Given the description of an element on the screen output the (x, y) to click on. 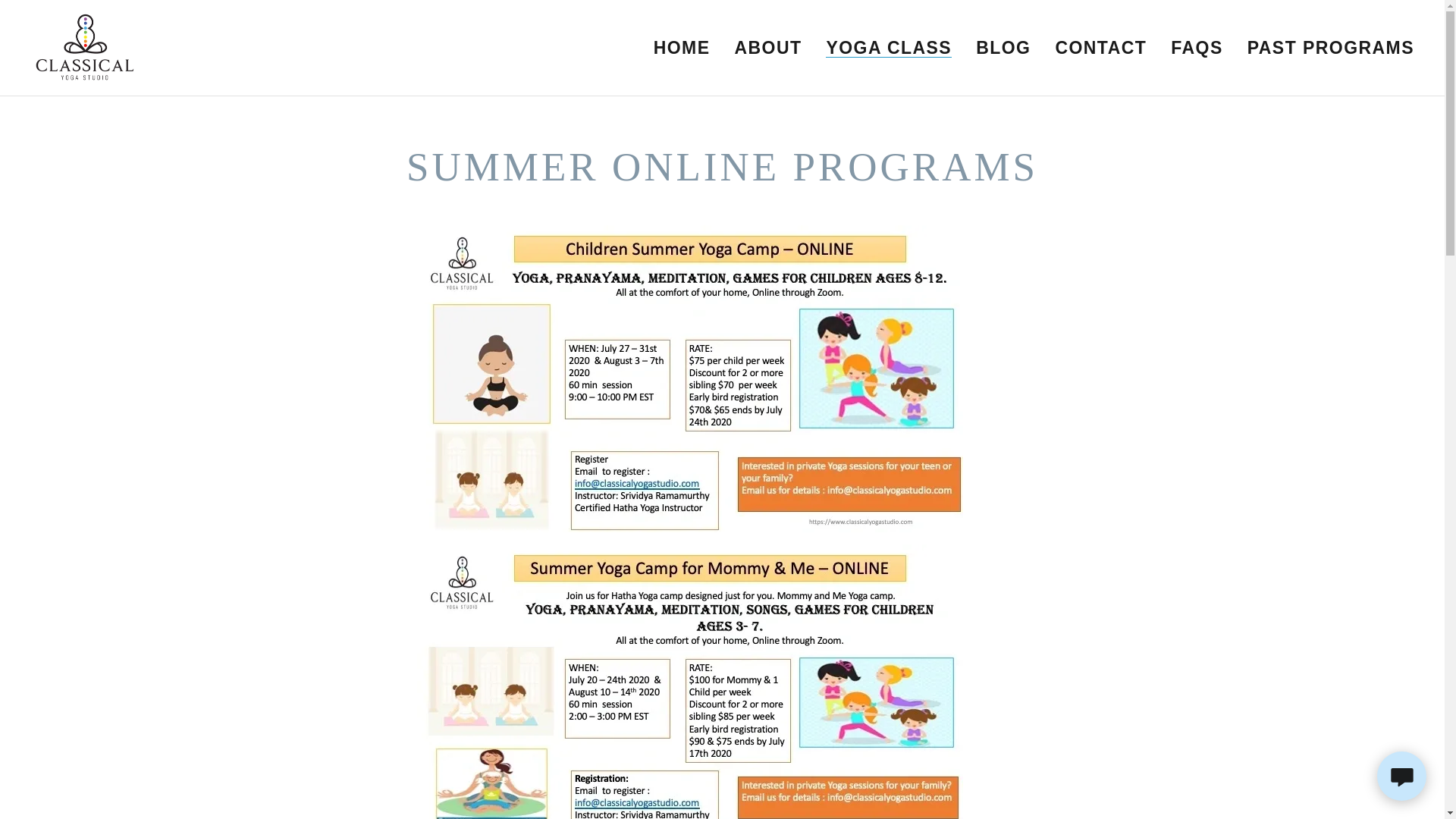
FAQS (1196, 47)
YOGA CLASS (888, 47)
HOME (681, 47)
Home for Yoga, Pranayama, Mindfulness and Meditation (84, 46)
BLOG (1003, 47)
PAST PROGRAMS (1330, 47)
CONTACT (1100, 47)
ABOUT (767, 47)
